Given the description of an element on the screen output the (x, y) to click on. 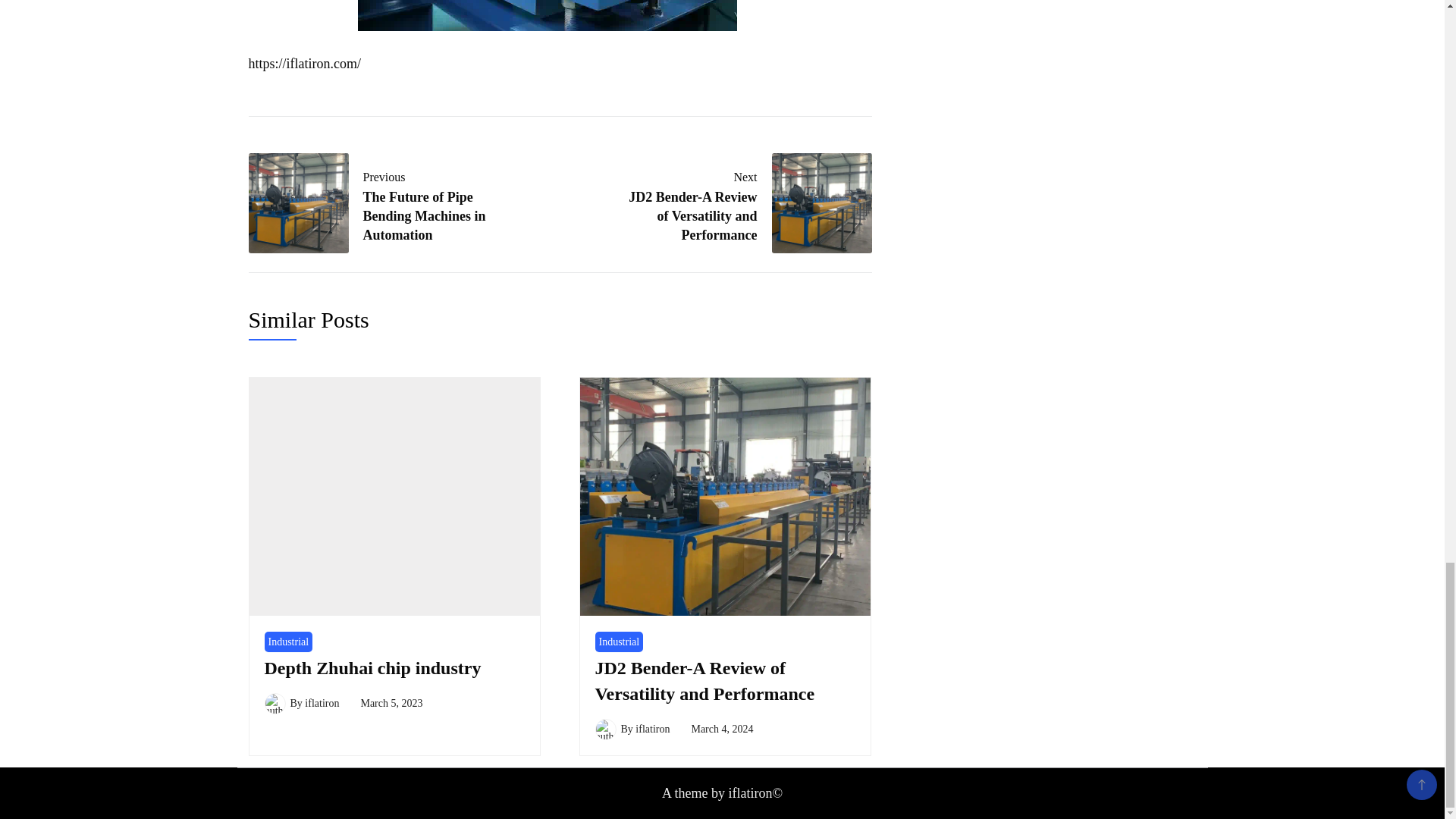
Decoiler Machine-Unwinding the Potential in Coil Processing (547, 15)
Industrial (288, 641)
